Given the description of an element on the screen output the (x, y) to click on. 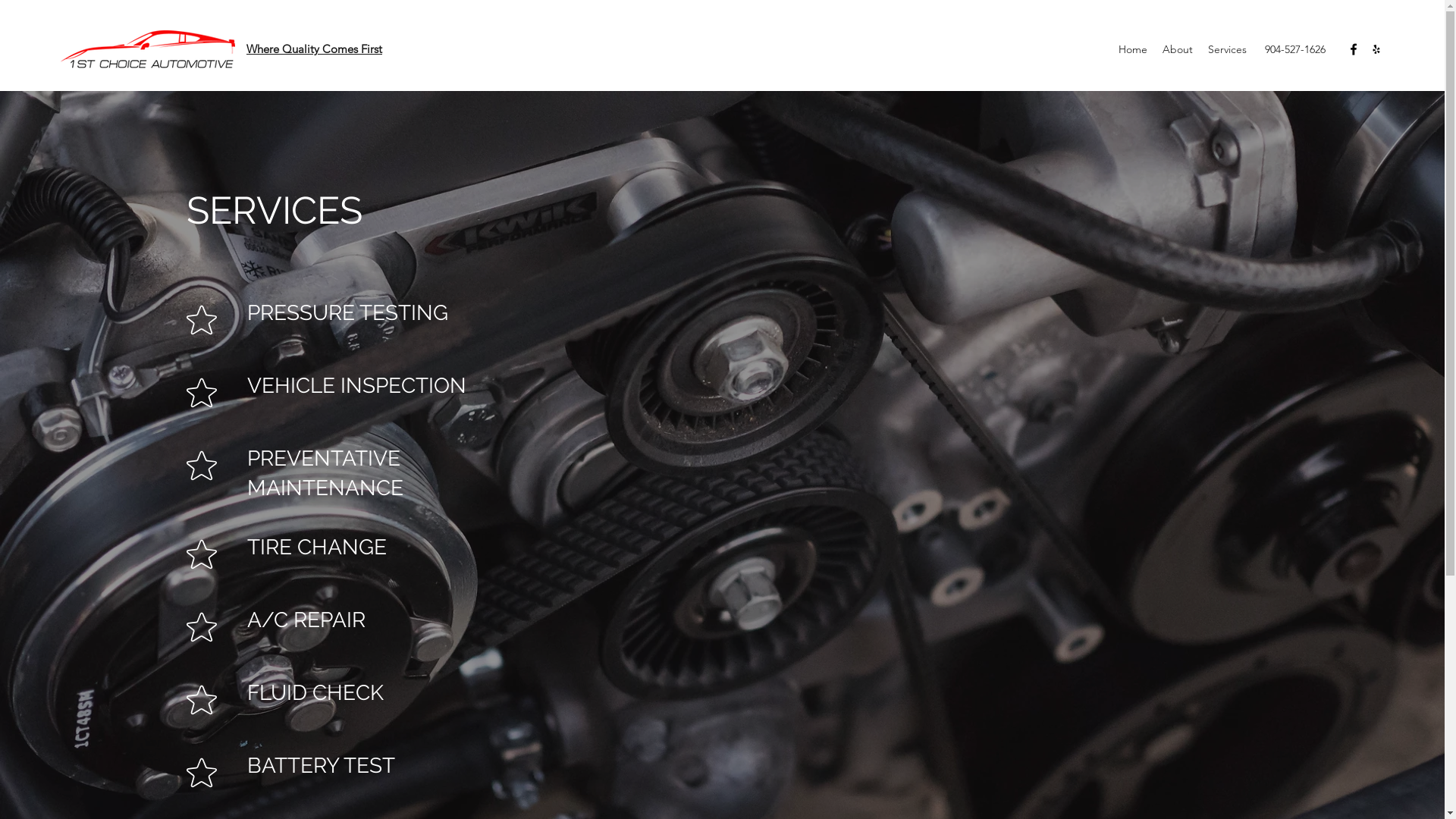
Home Element type: text (1132, 48)
Services Element type: text (1227, 48)
About Element type: text (1177, 48)
